Given the description of an element on the screen output the (x, y) to click on. 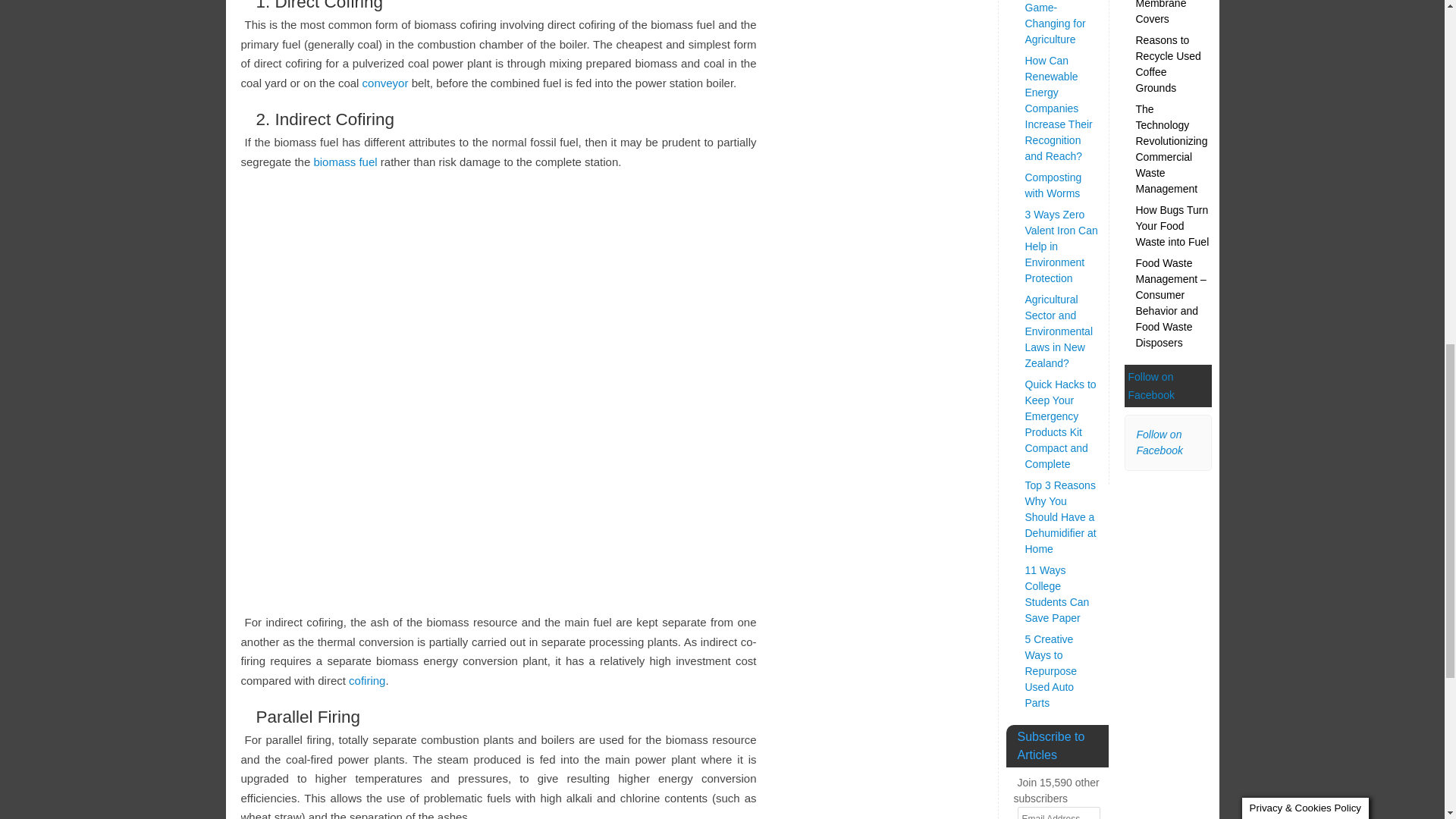
conveyor (385, 82)
cofiring (367, 680)
biomass fuel (345, 161)
